Given the description of an element on the screen output the (x, y) to click on. 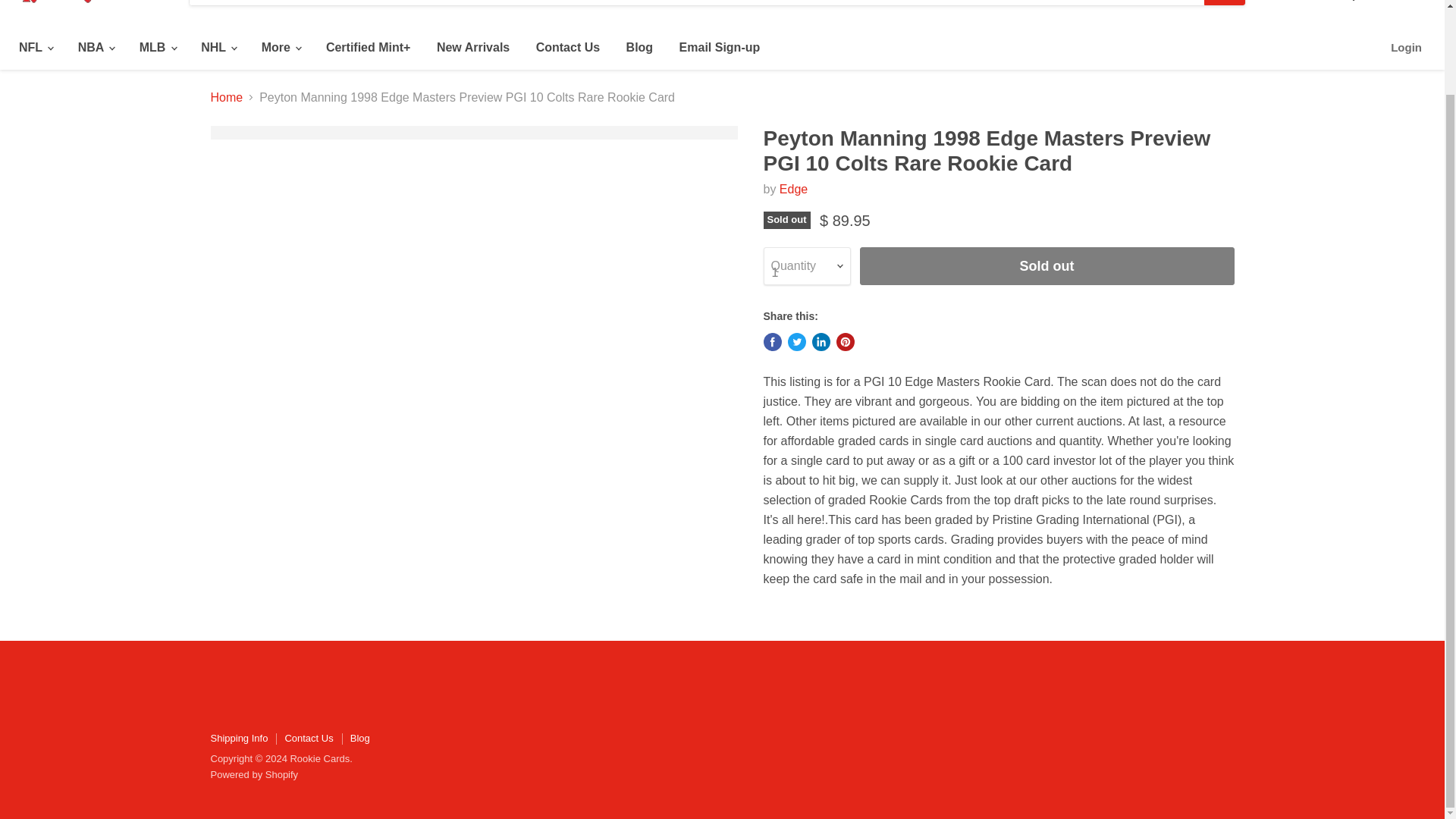
Edge (793, 188)
View cart (1414, 2)
NFL (34, 47)
